Given the description of an element on the screen output the (x, y) to click on. 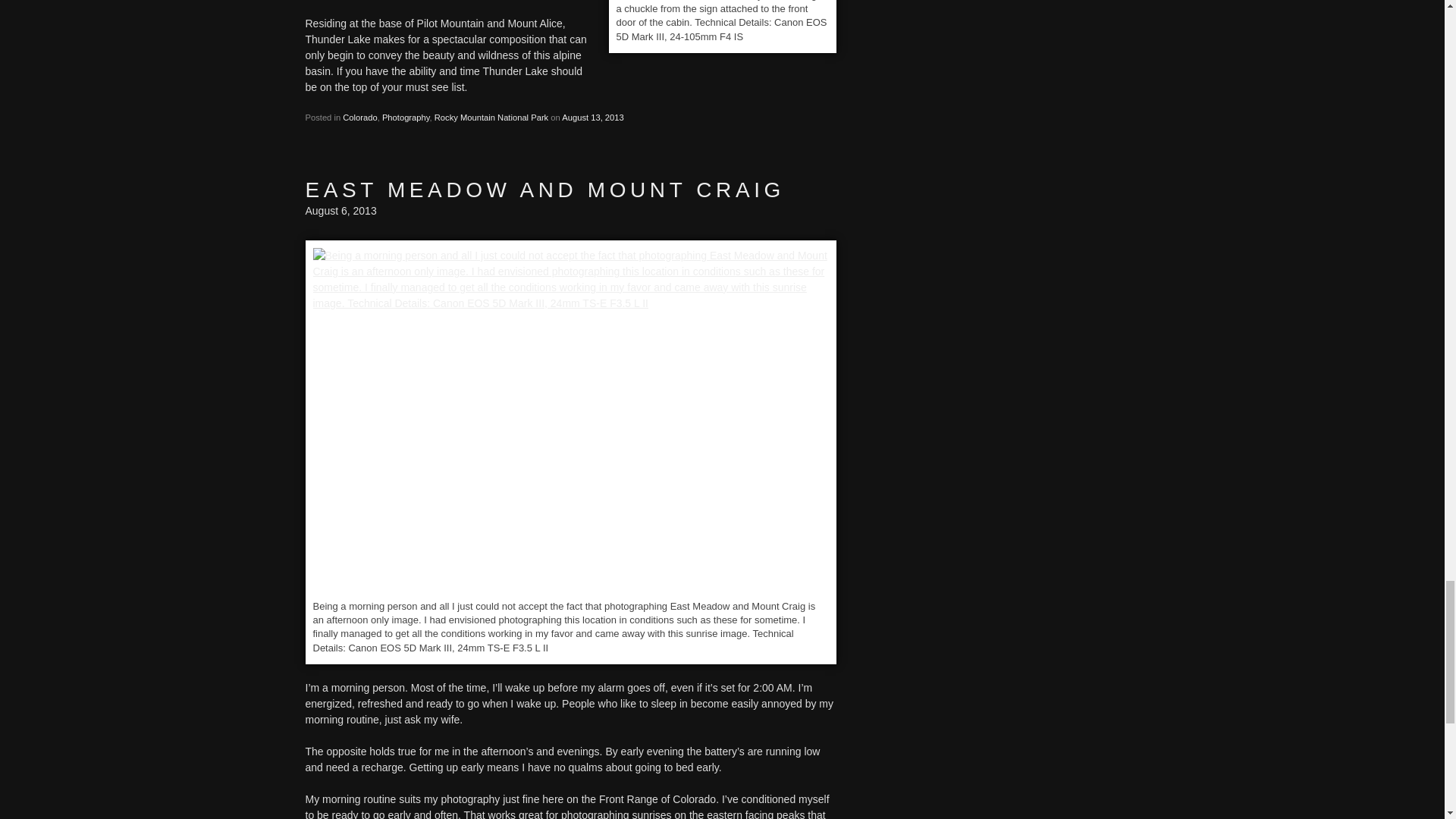
August 13, 2013 (593, 117)
Colorado (359, 117)
Photography (405, 117)
Rocky Mountain National Park (490, 117)
EAST MEADOW AND MOUNT CRAIG (544, 189)
